Given the description of an element on the screen output the (x, y) to click on. 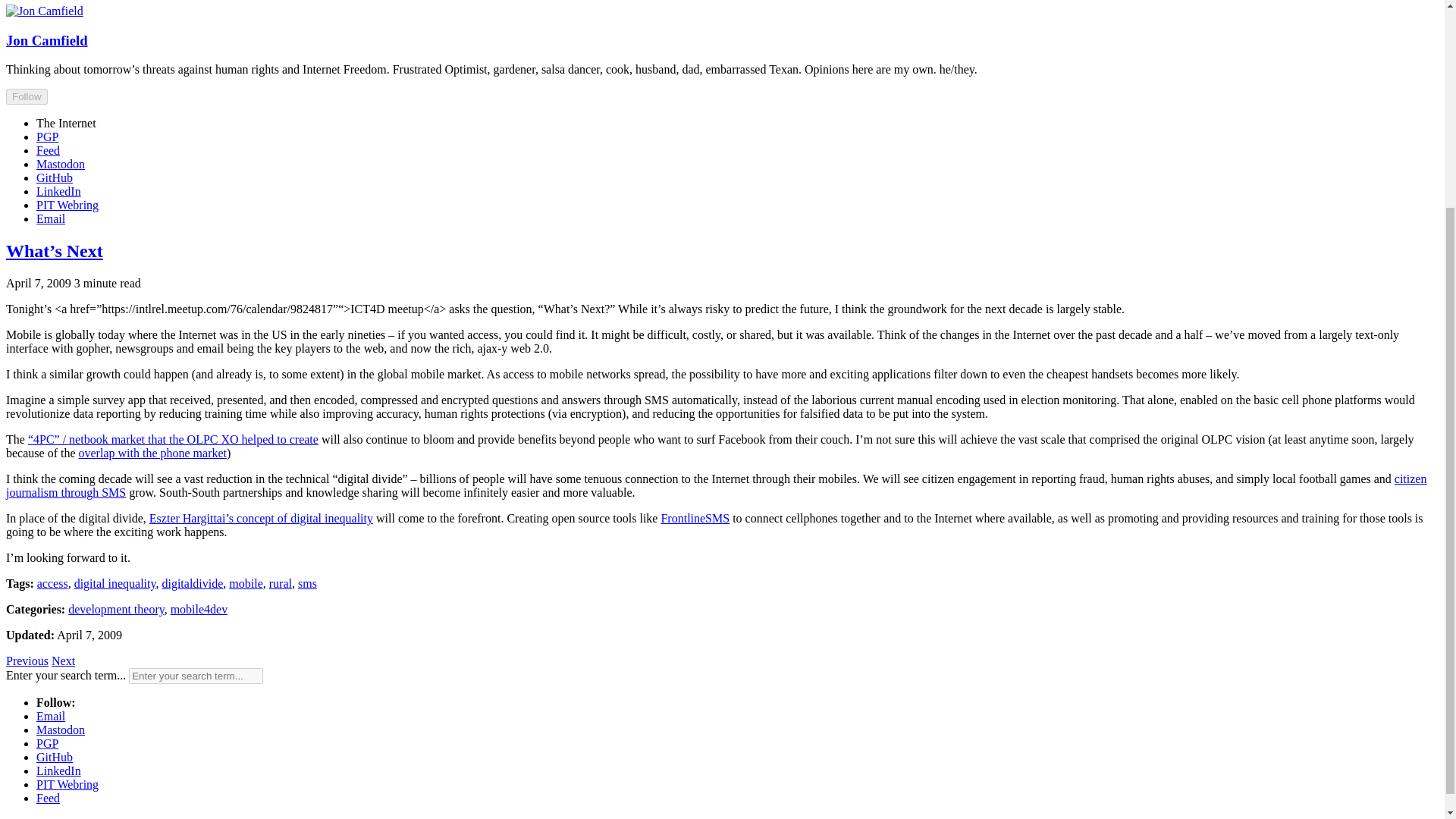
Feed (47, 150)
sms (307, 583)
PIT Webring (67, 205)
GitHub (54, 177)
PGP (47, 136)
access (52, 583)
Previous (26, 660)
Next (62, 660)
Email (50, 218)
citizen journalism through SMS (715, 485)
